Given the description of an element on the screen output the (x, y) to click on. 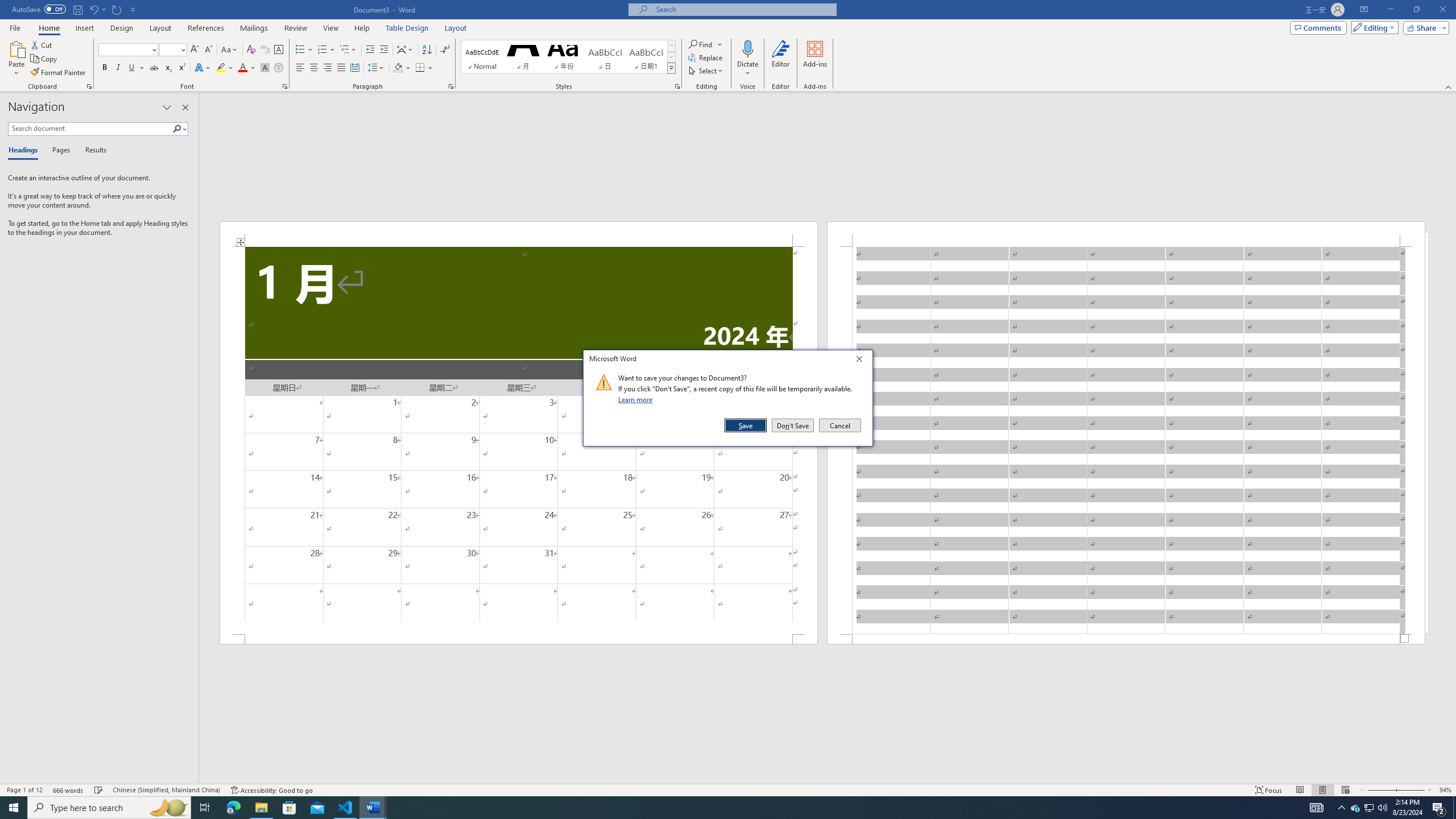
Table Design (407, 28)
